Given the description of an element on the screen output the (x, y) to click on. 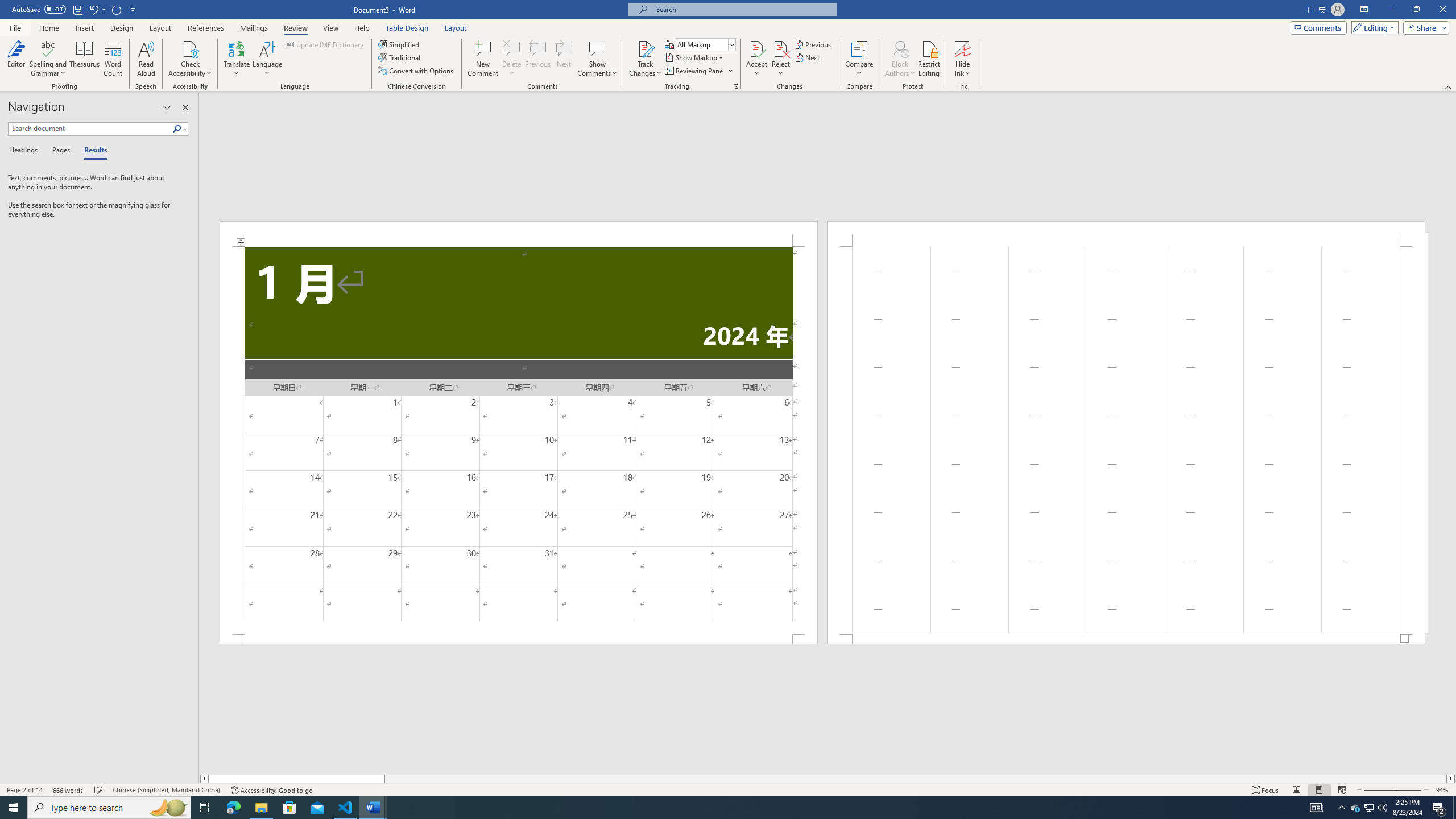
Delete (511, 58)
Track Changes (644, 58)
Page right (914, 778)
Column left (203, 778)
Check Accessibility (189, 48)
Simplified (400, 44)
Word Count (113, 58)
Spelling and Grammar (48, 48)
Update IME Dictionary... (324, 44)
